Given the description of an element on the screen output the (x, y) to click on. 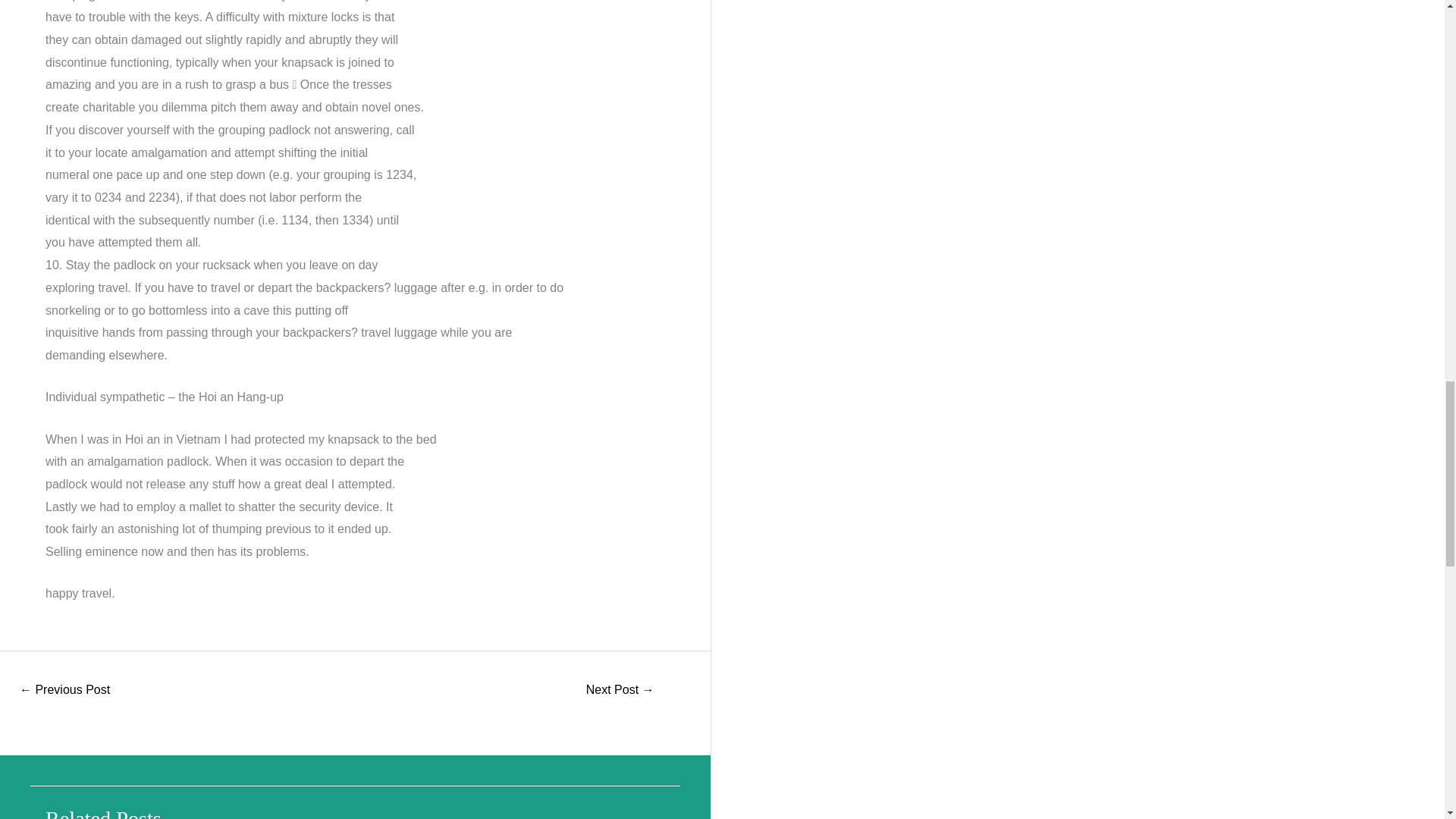
Frist class travel (64, 691)
www travel insurance (620, 691)
